Given the description of an element on the screen output the (x, y) to click on. 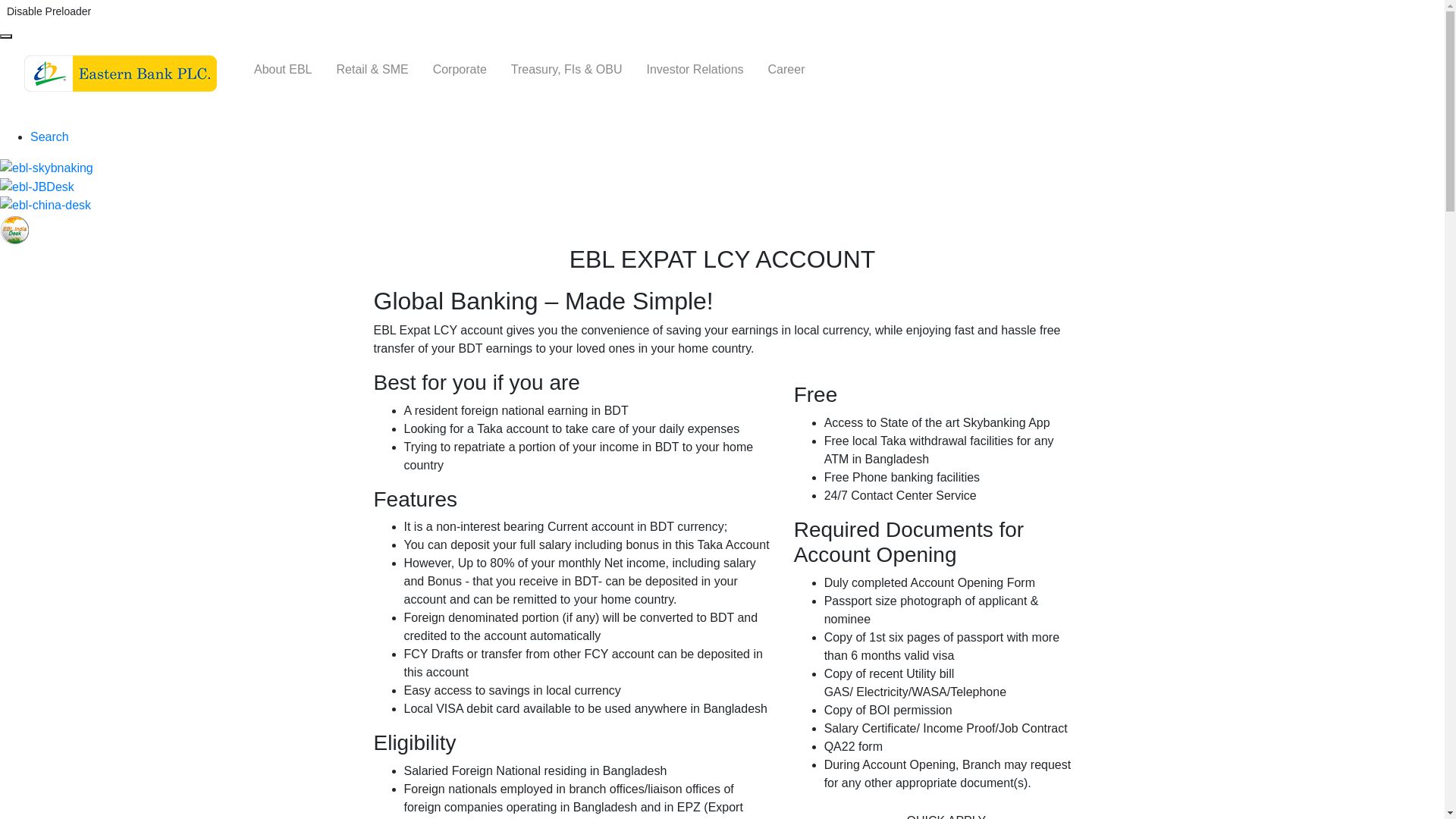
Search Element type: text (49, 136)
Retail & SME Element type: text (372, 69)
Accessibility Menu Element type: hover (6, 36)
Treasury, FIs & OBU Element type: text (566, 69)
Investor Relations Element type: text (694, 69)
Corporate Element type: text (459, 69)
Career Element type: text (786, 69)
About EBL Element type: text (282, 69)
